Given the description of an element on the screen output the (x, y) to click on. 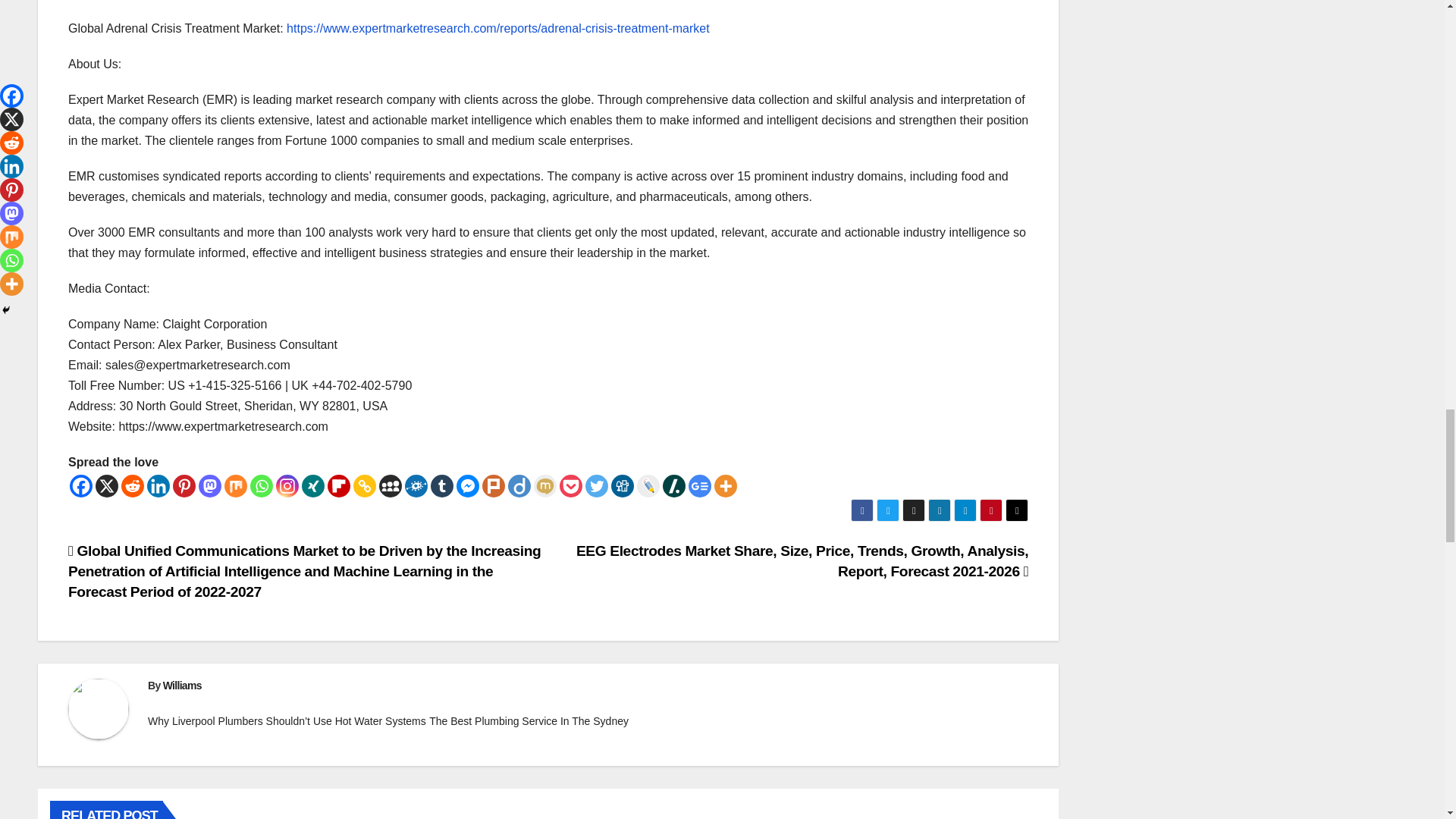
Linkedin (158, 486)
Reddit (132, 486)
xing (312, 486)
Whatsapp (261, 486)
Facebook (81, 486)
Pinterest (184, 486)
X (106, 486)
Instagram (287, 486)
Mix (235, 486)
Mastodon (209, 486)
